Given the description of an element on the screen output the (x, y) to click on. 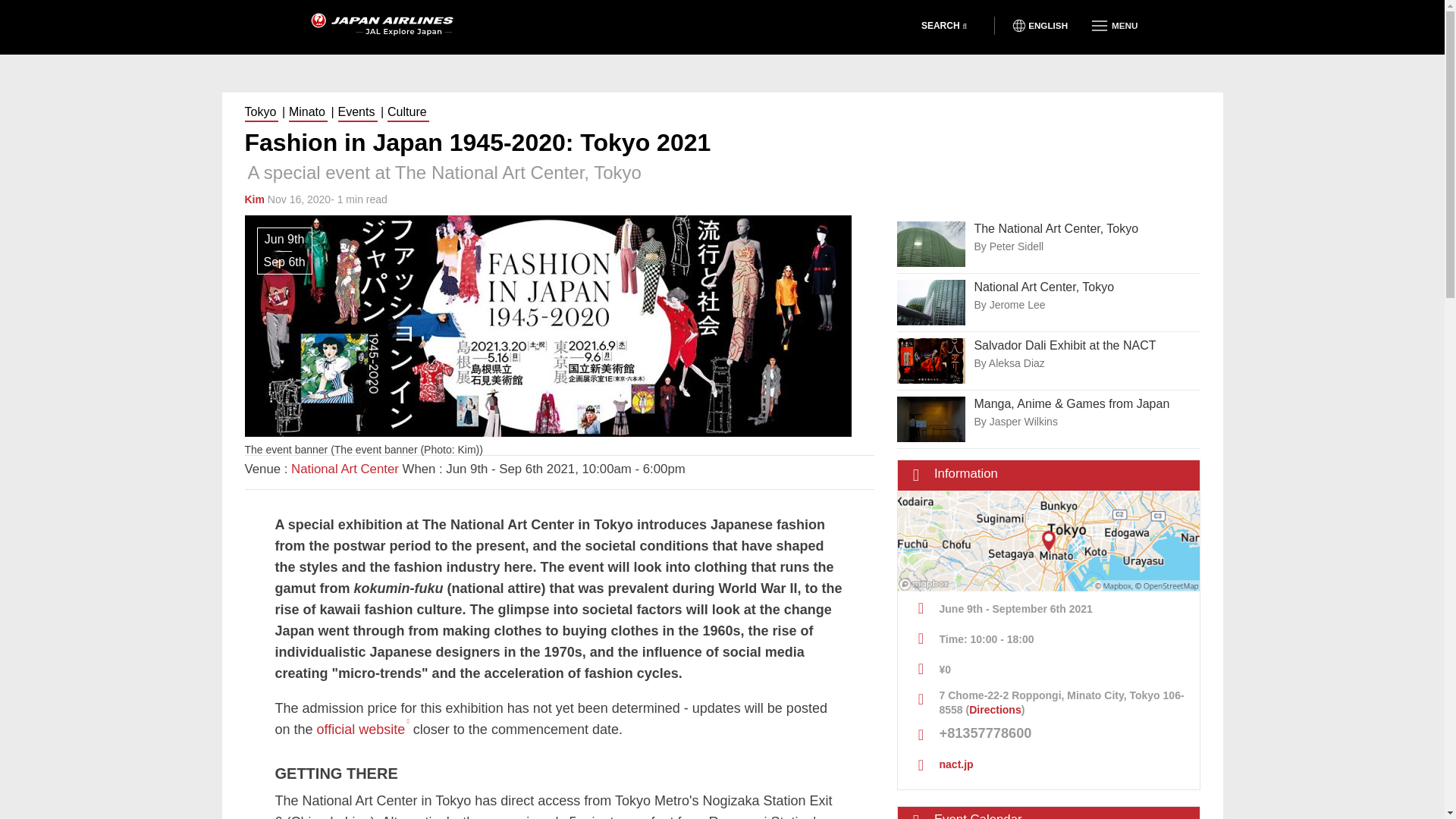
Address (1048, 700)
Phone number (1048, 733)
